Given the description of an element on the screen output the (x, y) to click on. 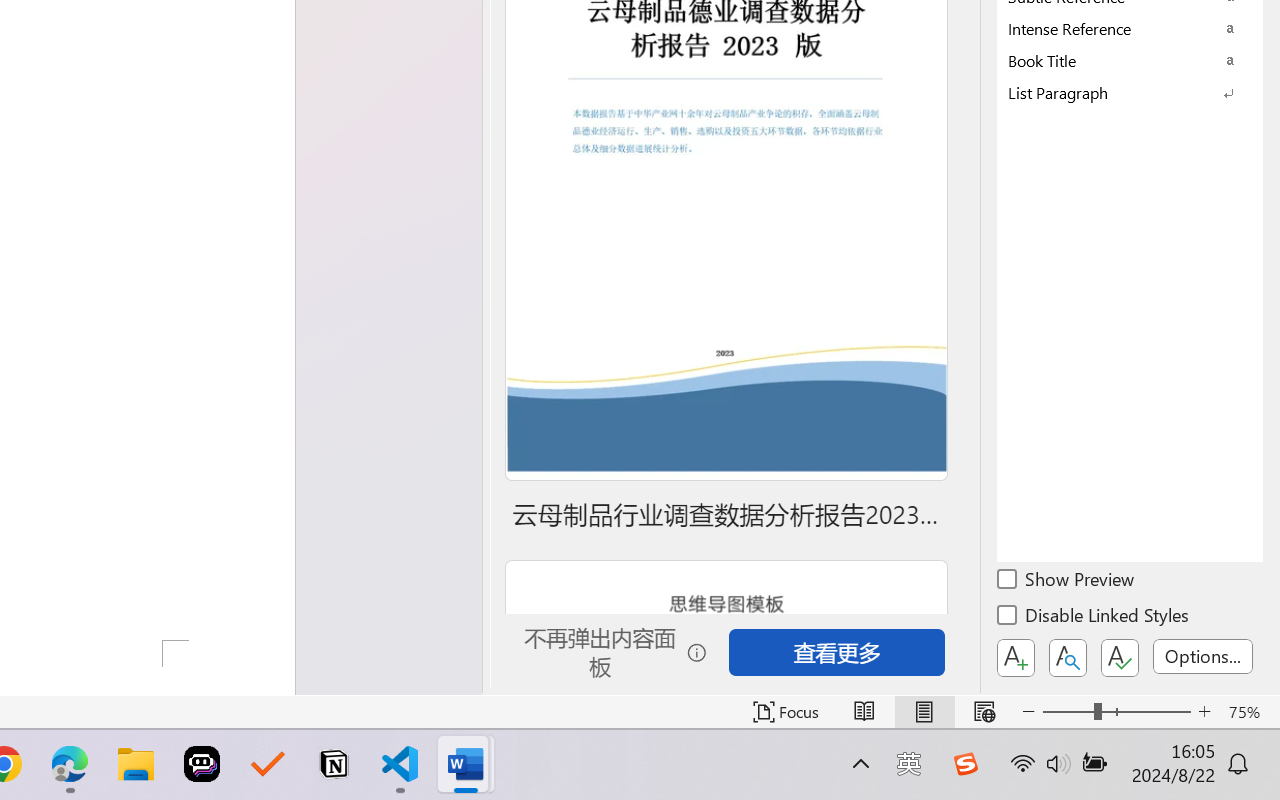
Book Title (1130, 60)
Read Mode (864, 712)
Zoom Out (1067, 712)
Class: Image (965, 764)
List Paragraph (1130, 92)
Focus  (786, 712)
Zoom In (1204, 712)
Disable Linked Styles (1094, 618)
Print Layout (924, 712)
Zoom (1116, 712)
Class: NetUIButton (1119, 657)
Show Preview (1067, 582)
Class: NetUIImage (1116, 92)
Options... (1203, 656)
